Given the description of an element on the screen output the (x, y) to click on. 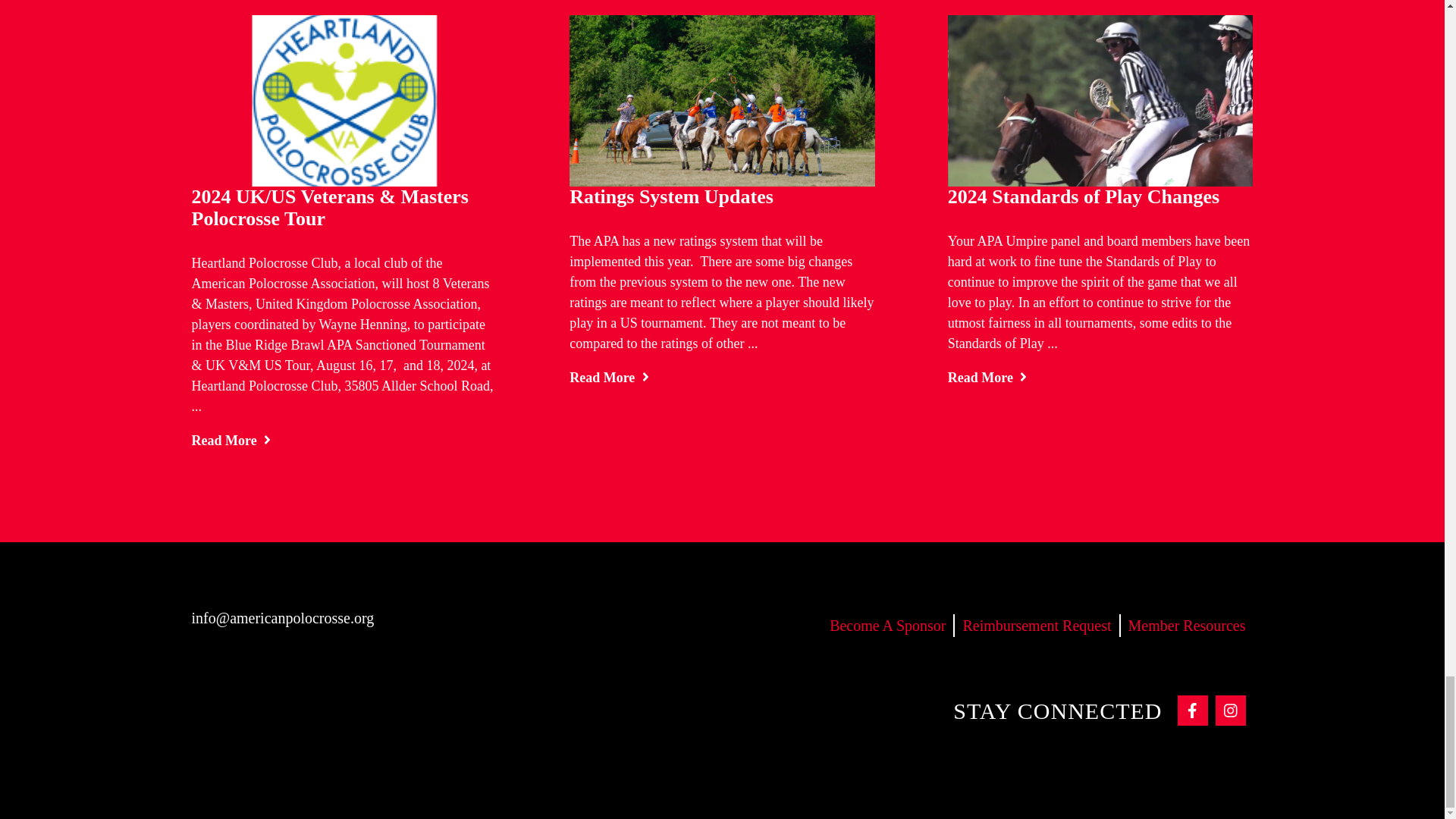
Ratings System Updates (671, 196)
Read More (230, 439)
Read More (609, 377)
